Given the description of an element on the screen output the (x, y) to click on. 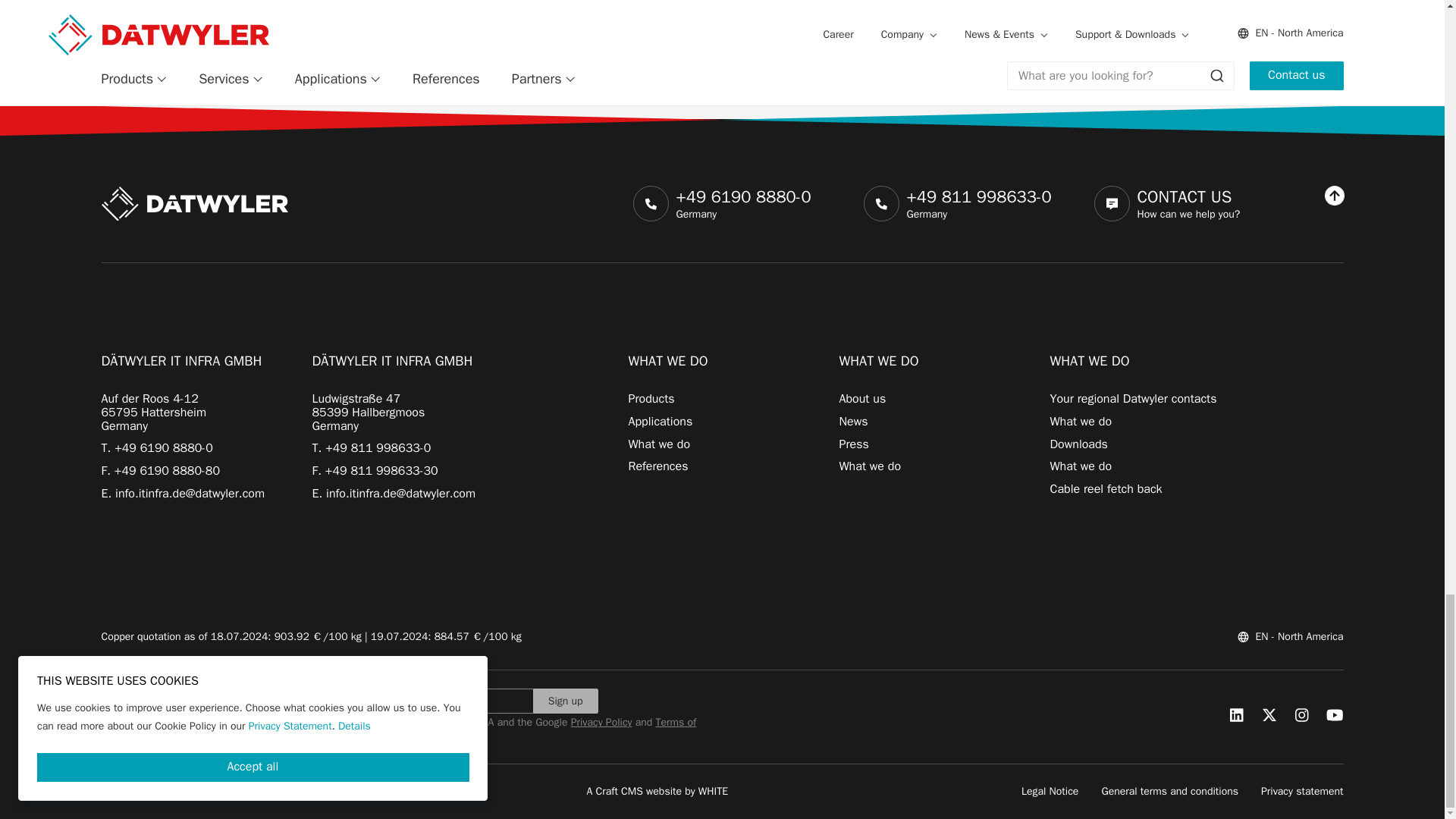
Instagram (1301, 714)
Craft CMS website developed by WHITE Digital Agency (657, 790)
LinkedIn (1236, 714)
YouTube (1334, 714)
